Given the description of an element on the screen output the (x, y) to click on. 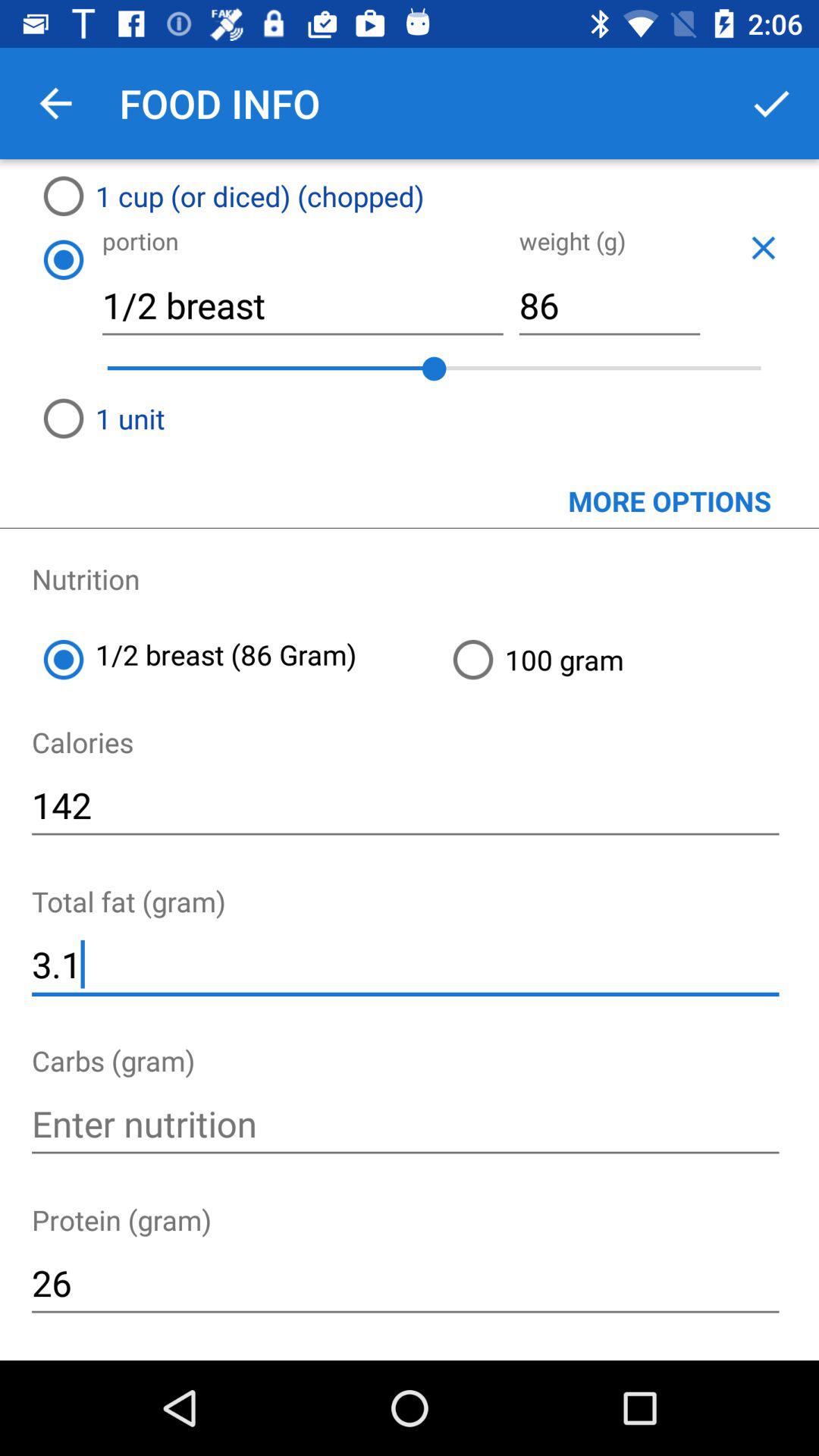
select carbs (405, 1124)
